Given the description of an element on the screen output the (x, y) to click on. 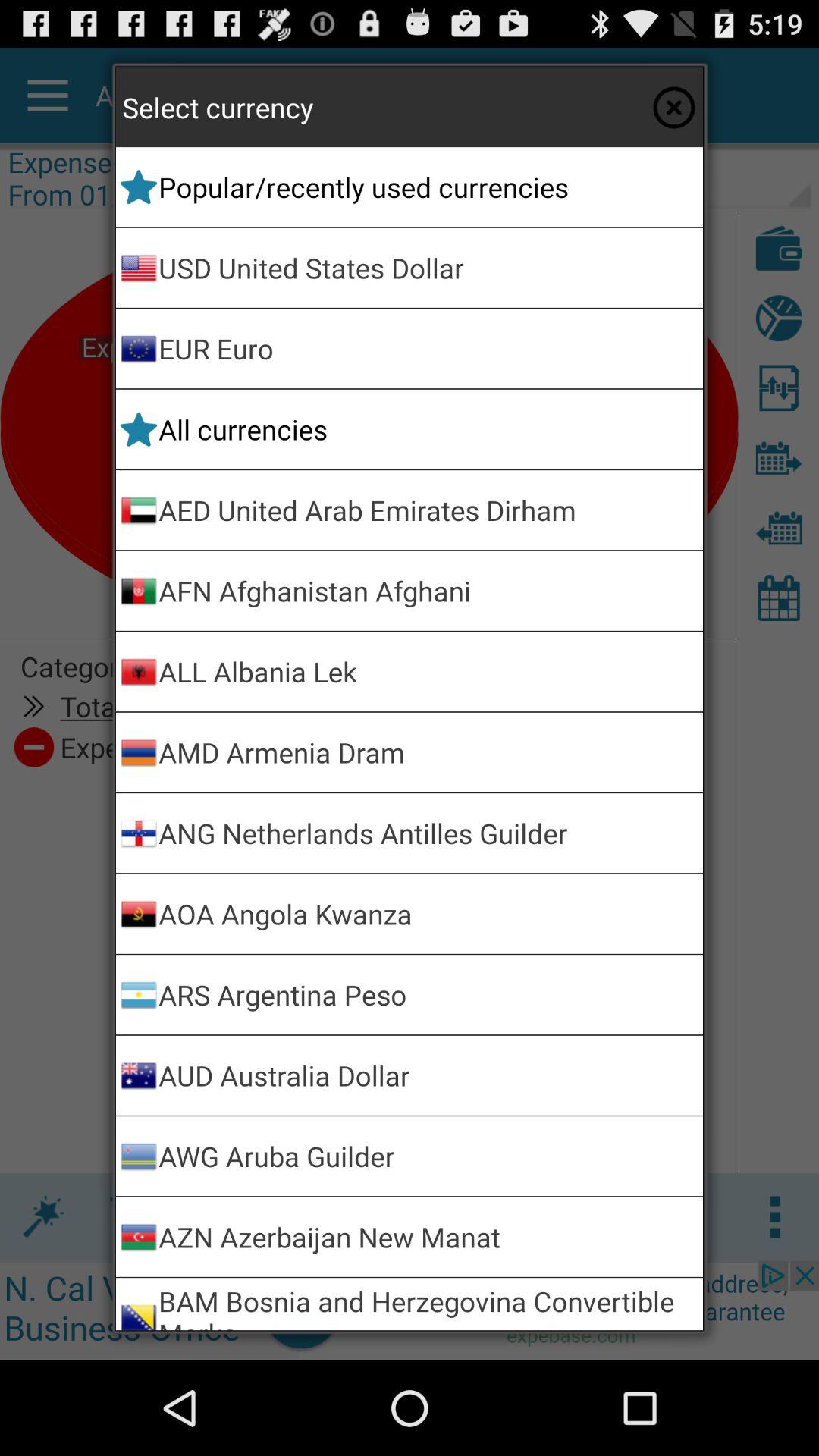
tap the item above awg aruba guilder app (427, 1075)
